Given the description of an element on the screen output the (x, y) to click on. 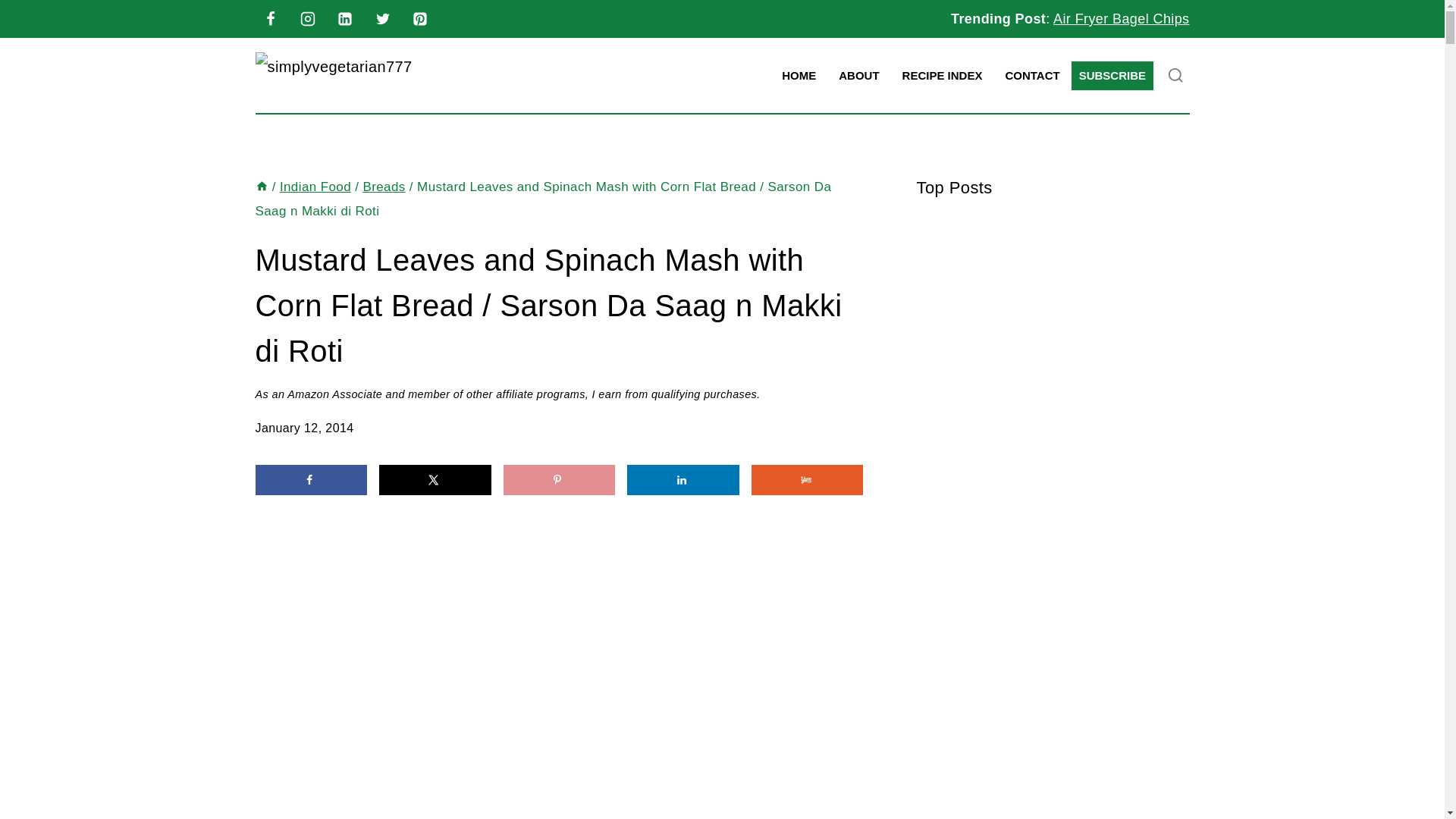
SUBSCRIBE (1112, 75)
RECIPE INDEX (942, 76)
Share on LinkedIn (683, 480)
Air Fryer Bagel Chips (1120, 18)
ABOUT (858, 76)
Share on X (435, 480)
Save to Pinterest (559, 480)
Share on Yummly (807, 480)
CONTACT (1031, 76)
Indian Food (314, 186)
Share on Facebook (310, 480)
Home (260, 186)
HOME (798, 76)
Breads (383, 186)
